Given the description of an element on the screen output the (x, y) to click on. 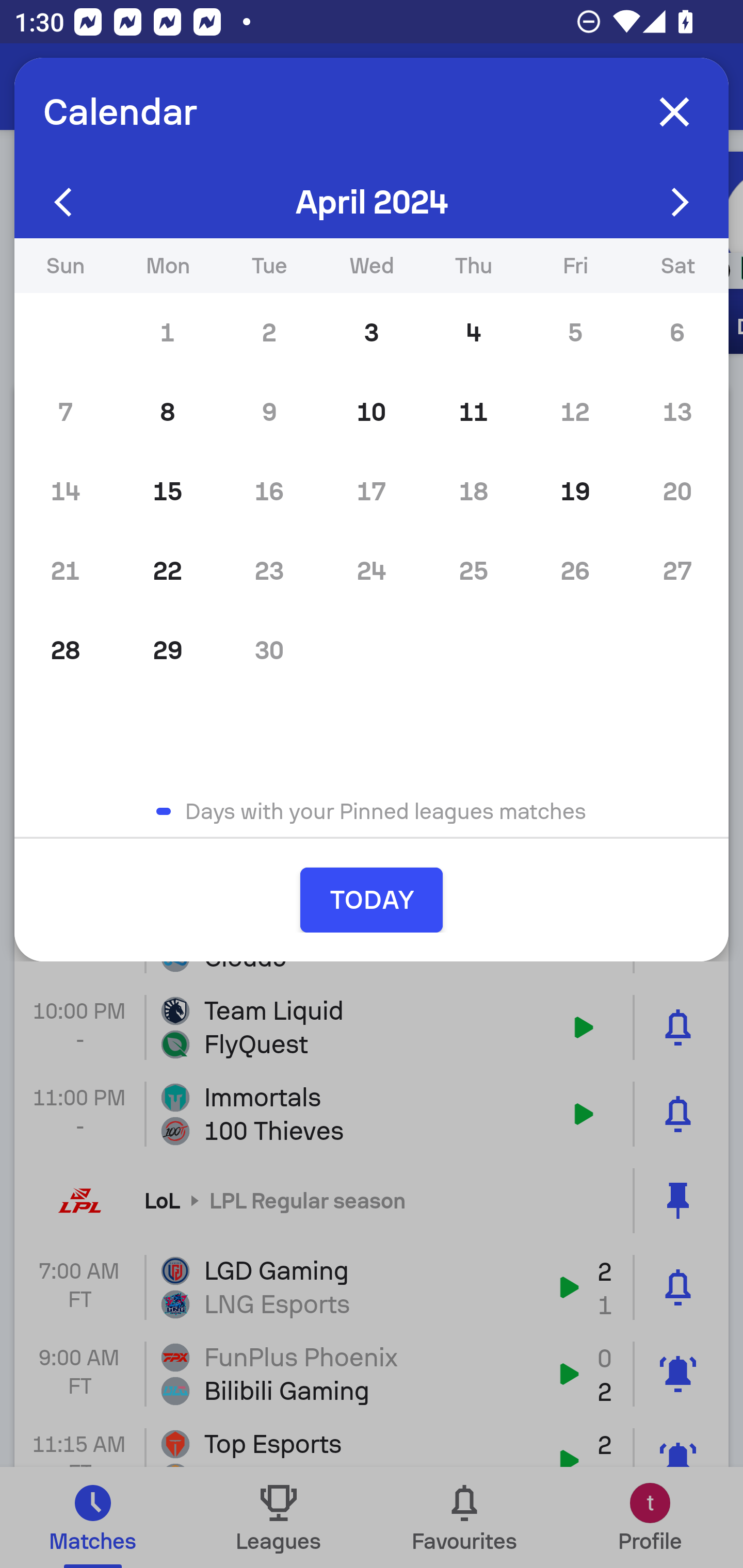
Esports (114, 86)
1 (167, 333)
2 (269, 333)
3 (371, 333)
4 (473, 333)
5 (575, 333)
6 (677, 333)
7 (65, 412)
8 (167, 412)
9 (269, 412)
10 (371, 412)
11 (473, 412)
12 (575, 412)
13 (677, 412)
14 (65, 491)
15 (167, 491)
16 (269, 491)
17 (371, 491)
18 (473, 491)
19 (575, 491)
20 (677, 491)
21 (65, 570)
22 (167, 570)
23 (269, 570)
24 (371, 570)
25 (473, 570)
26 (575, 570)
27 (677, 570)
28 (65, 649)
29 (167, 649)
30 (269, 649)
TODAY (371, 899)
